Given the description of an element on the screen output the (x, y) to click on. 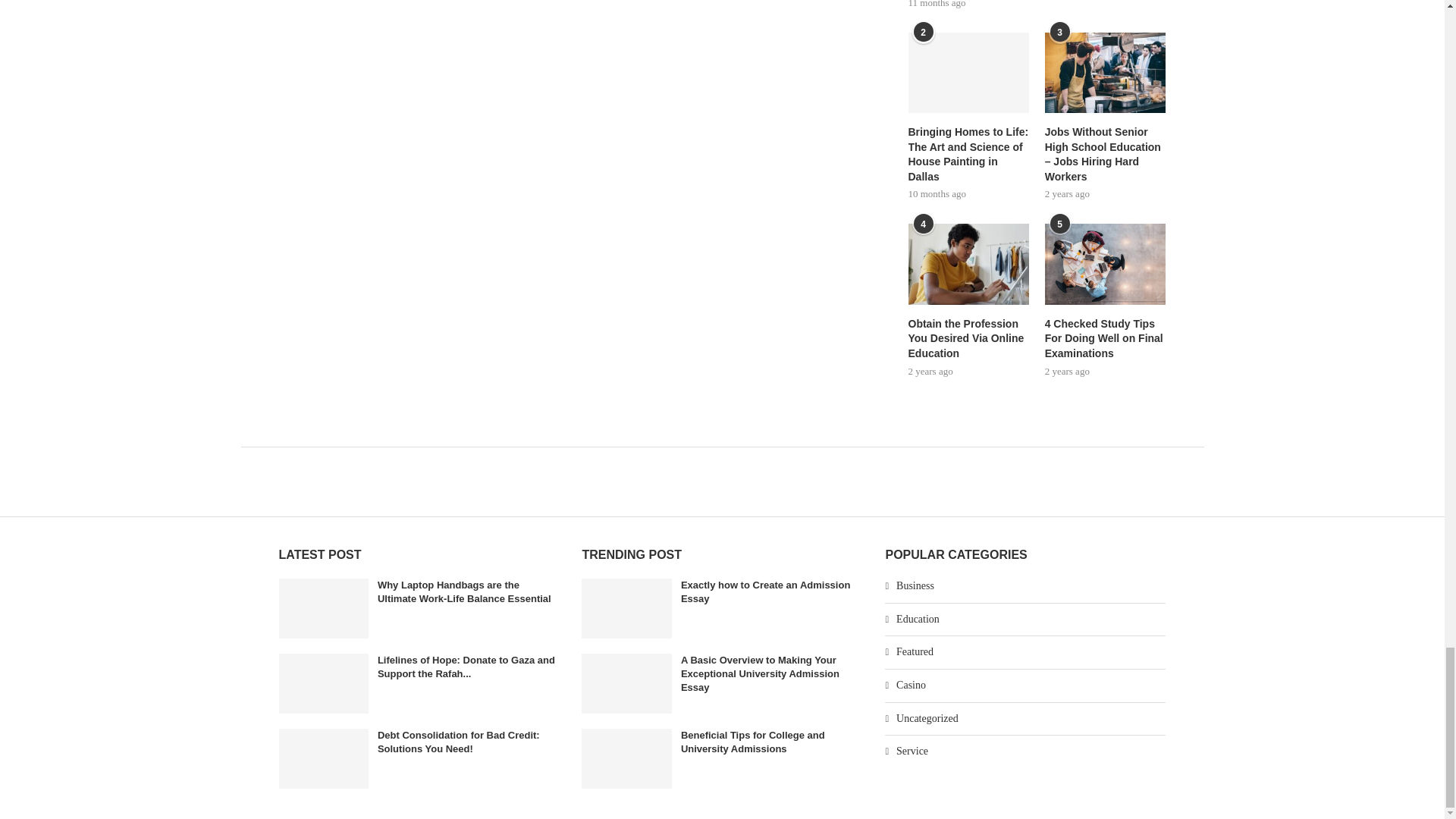
Obtain the Profession You Desired Via Online Education (968, 263)
